Given the description of an element on the screen output the (x, y) to click on. 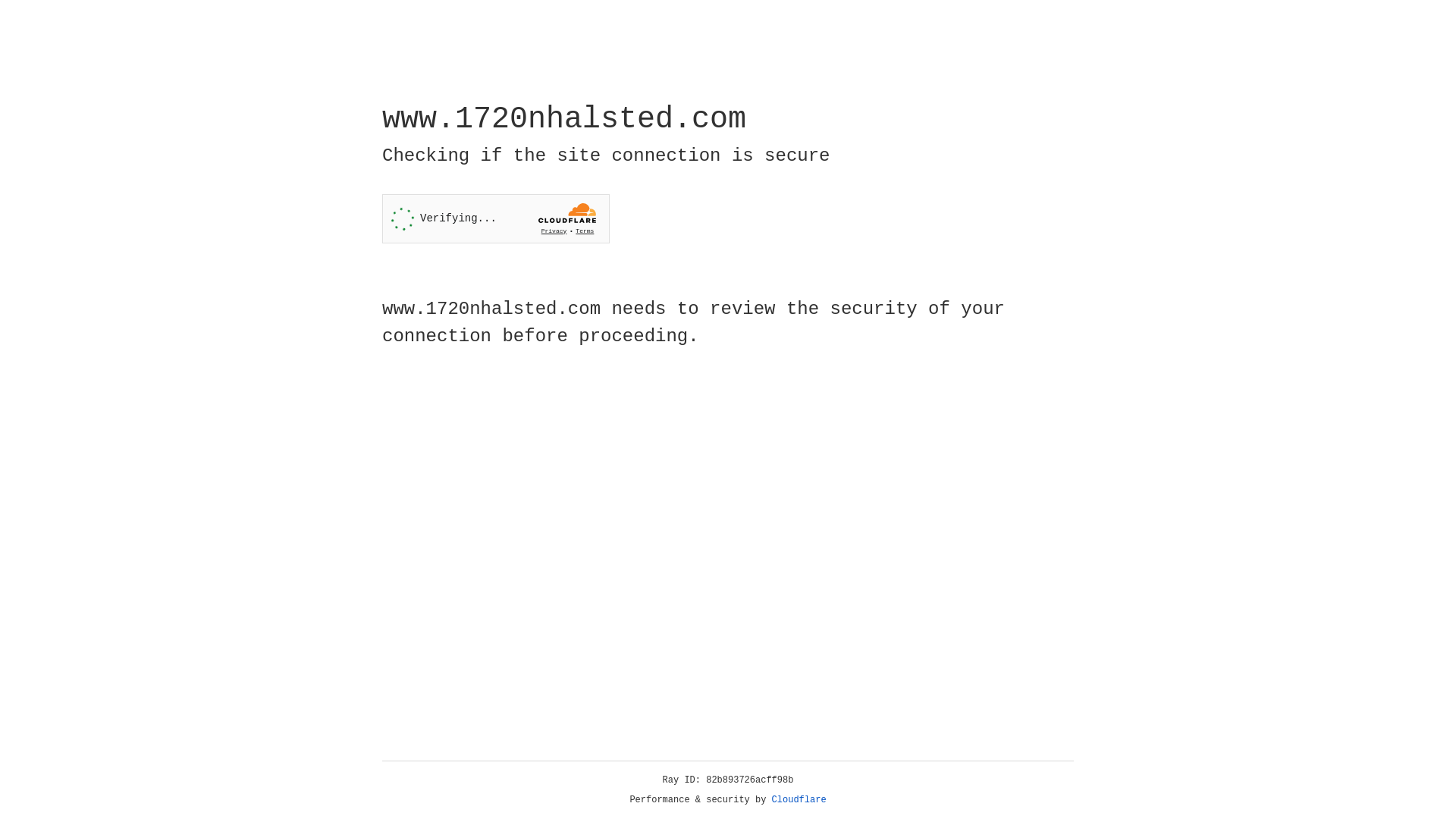
Cloudflare Element type: text (798, 799)
Widget containing a Cloudflare security challenge Element type: hover (495, 218)
